Given the description of an element on the screen output the (x, y) to click on. 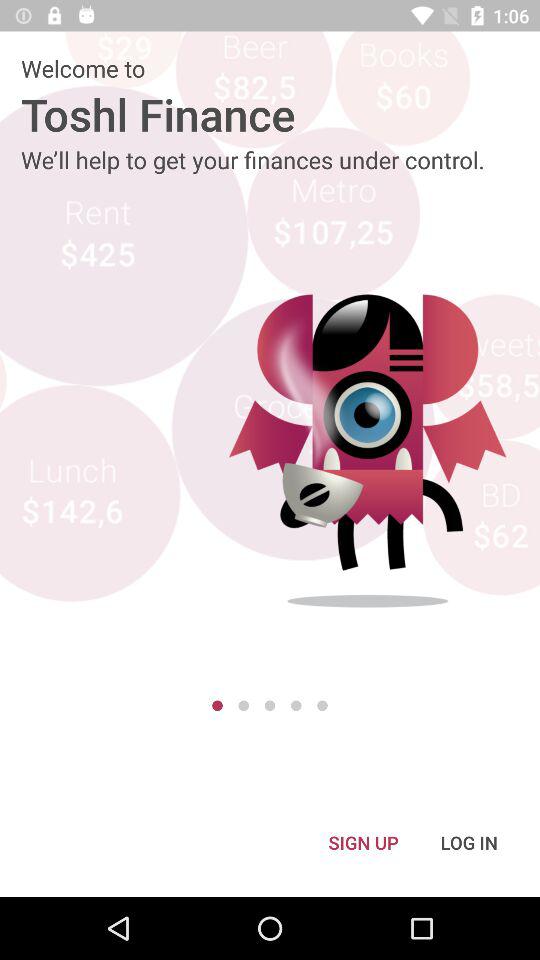
launch the log in (469, 842)
